Given the description of an element on the screen output the (x, y) to click on. 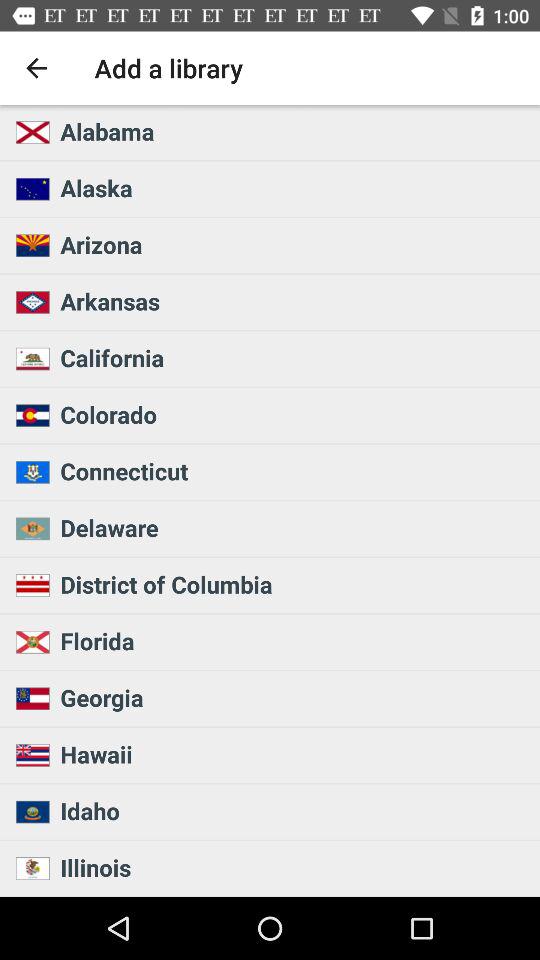
open icon below alaska item (294, 244)
